Given the description of an element on the screen output the (x, y) to click on. 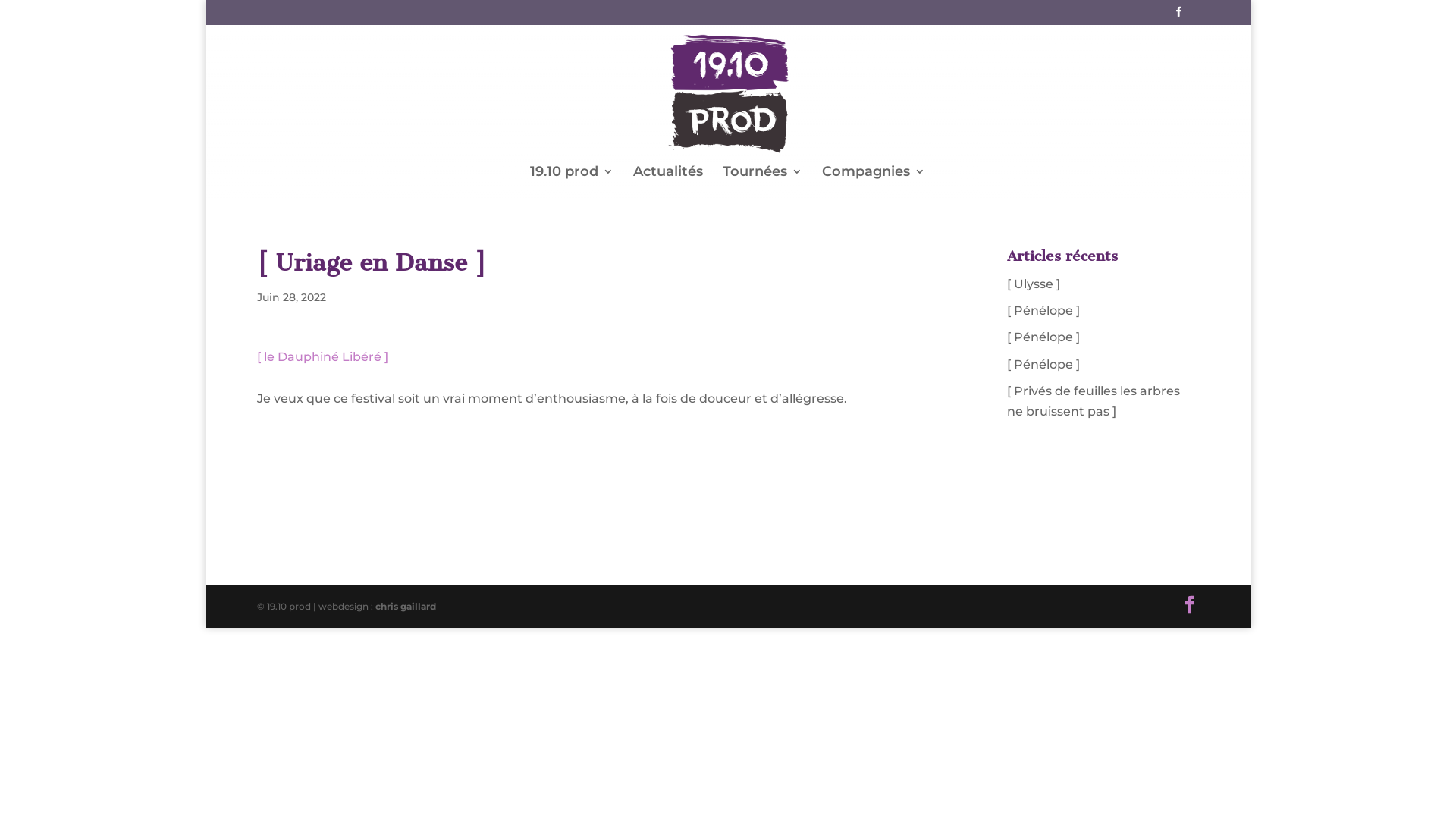
Compagnies Element type: text (873, 183)
19.10 prod Element type: text (570, 183)
chris gaillard Element type: text (405, 605)
[ Ulysse ] Element type: text (1033, 283)
